Given the description of an element on the screen output the (x, y) to click on. 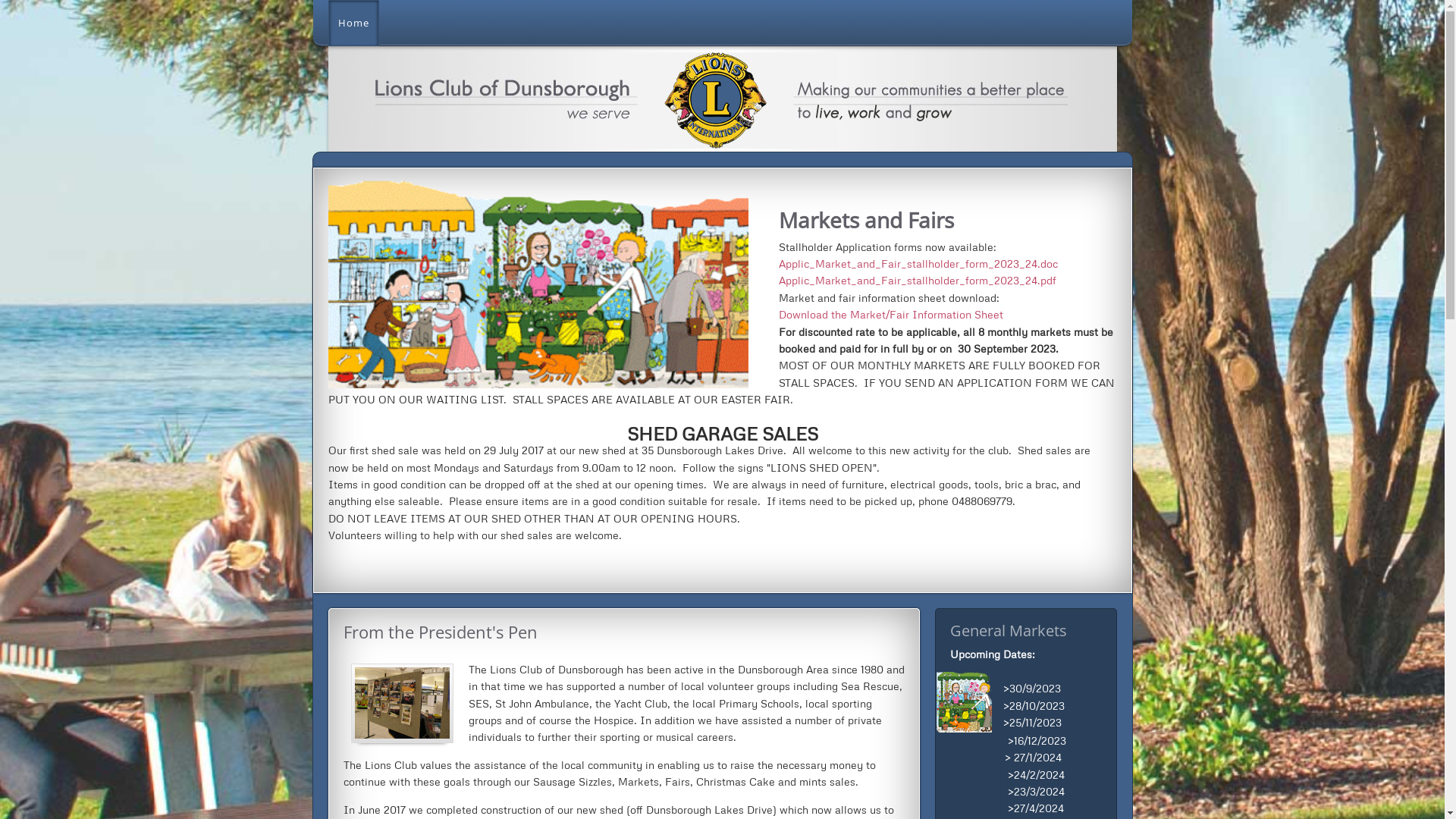
Home Element type: text (352, 23)
Applic_Market_and_Fair_stallholder_form_2023_24.pdf Element type: text (916, 279)
Download the Market/Fair Information Sheet Element type: text (890, 313)
Applic_Market_and_Fair_stallholder_form_2023_24.doc Element type: text (917, 263)
